Given the description of an element on the screen output the (x, y) to click on. 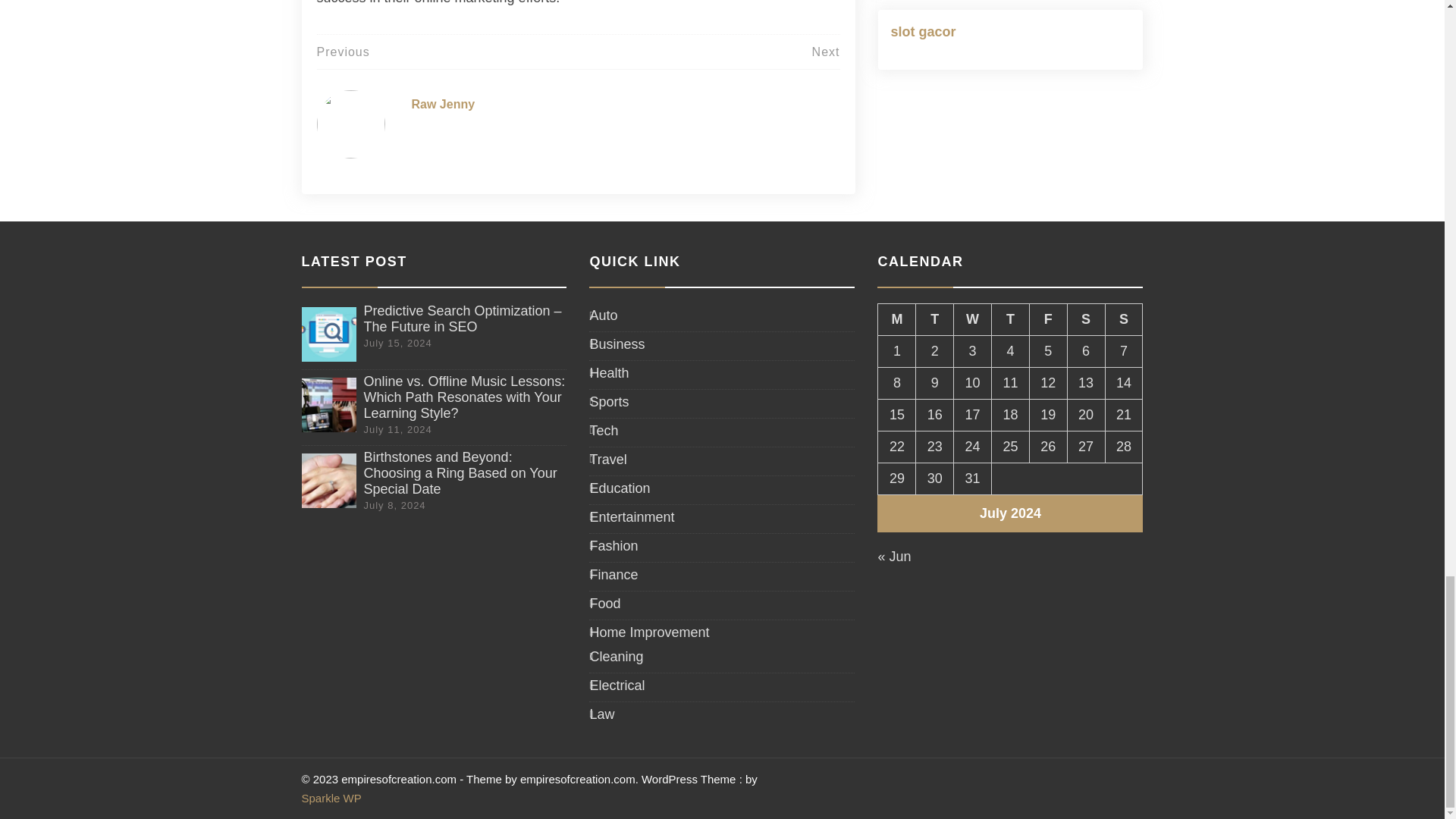
Monday (896, 318)
Tuesday (934, 318)
Saturday (1086, 318)
Next (826, 51)
Wednesday (972, 318)
Previous (343, 51)
Sunday (1123, 318)
Thursday (1010, 318)
Raw Jenny (442, 103)
Posts by Raw Jenny (442, 103)
Friday (1048, 318)
